Given the description of an element on the screen output the (x, y) to click on. 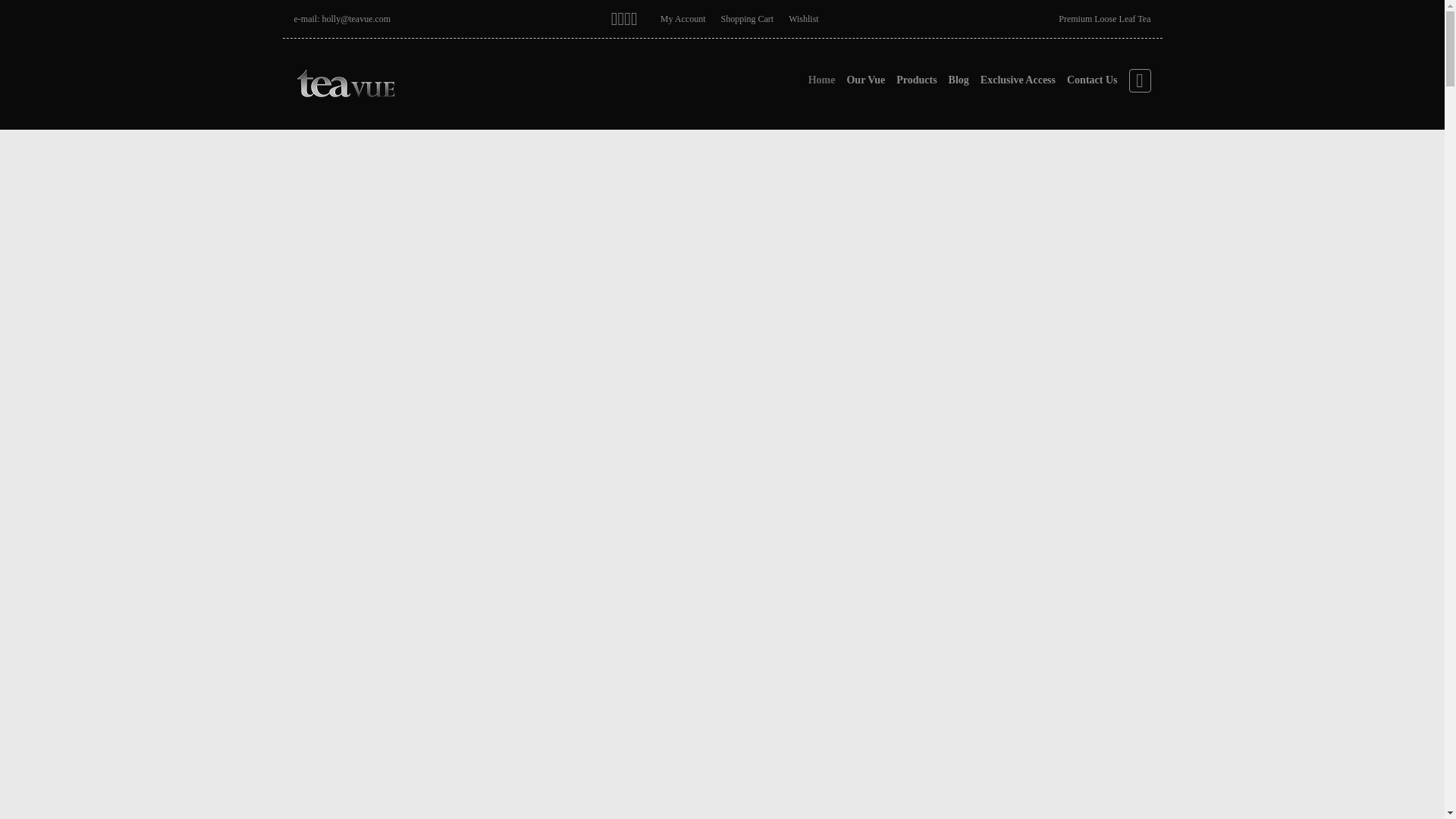
Contact Us (1092, 79)
Blog (959, 79)
My Account (683, 18)
Exclusive Access (1017, 79)
Our Vue (865, 79)
Wishlist (803, 18)
Products (916, 79)
Home (821, 79)
Shopping Cart (746, 18)
